Given the description of an element on the screen output the (x, y) to click on. 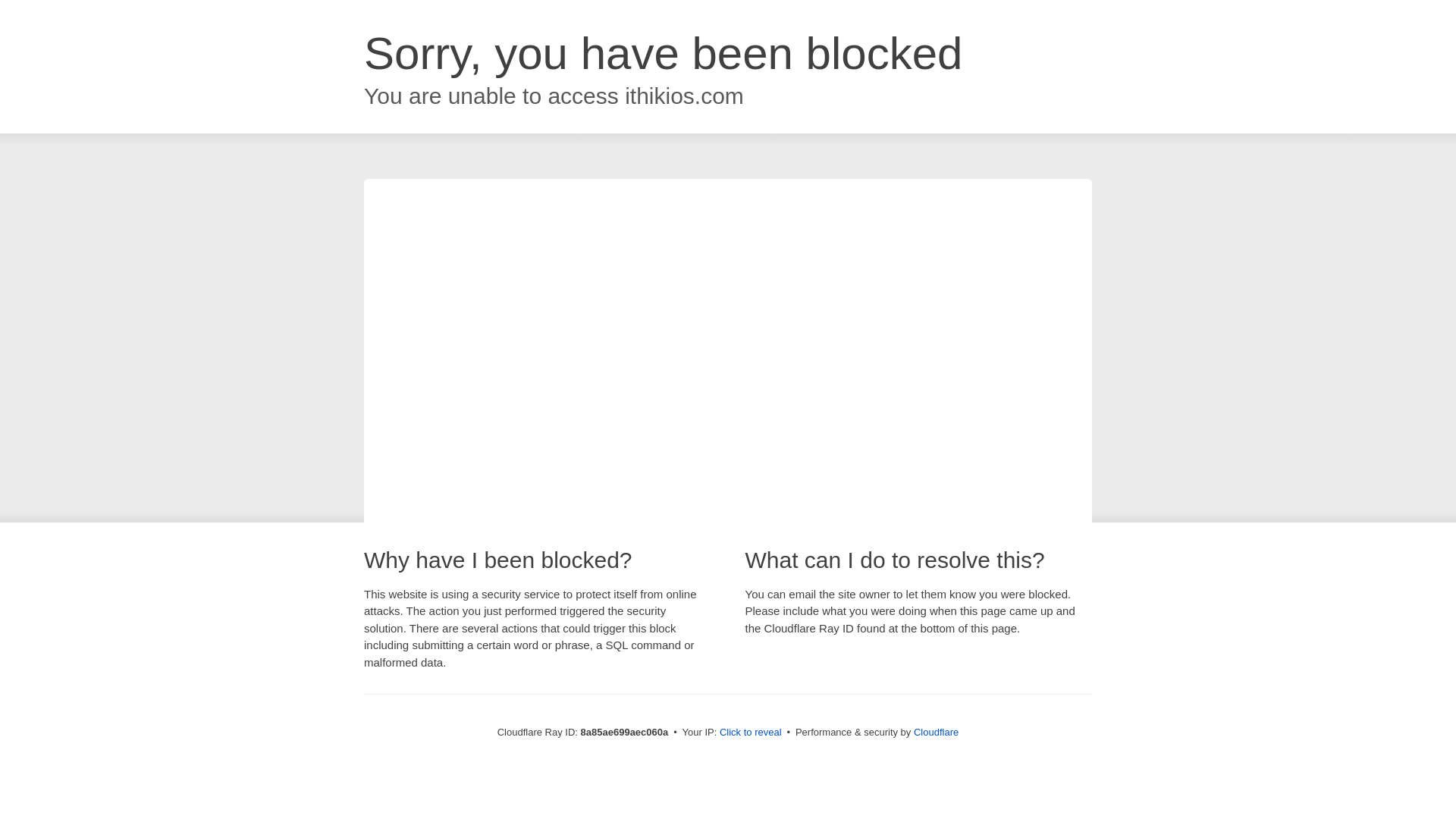
Cloudflare (936, 731)
Click to reveal (750, 732)
